Given the description of an element on the screen output the (x, y) to click on. 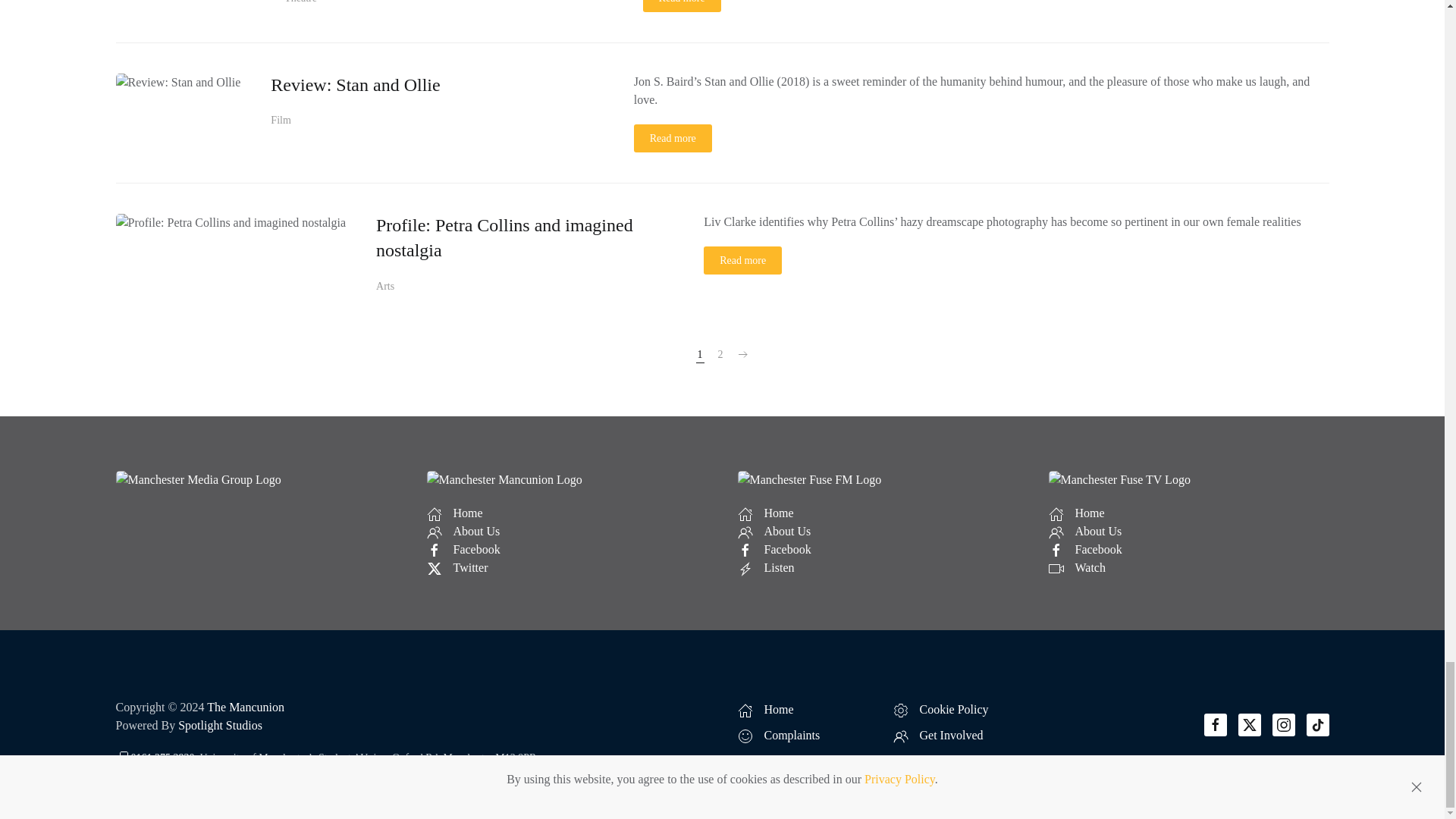
The Mancunion (244, 707)
Web Design by Spotlight Studios (219, 725)
